Given the description of an element on the screen output the (x, y) to click on. 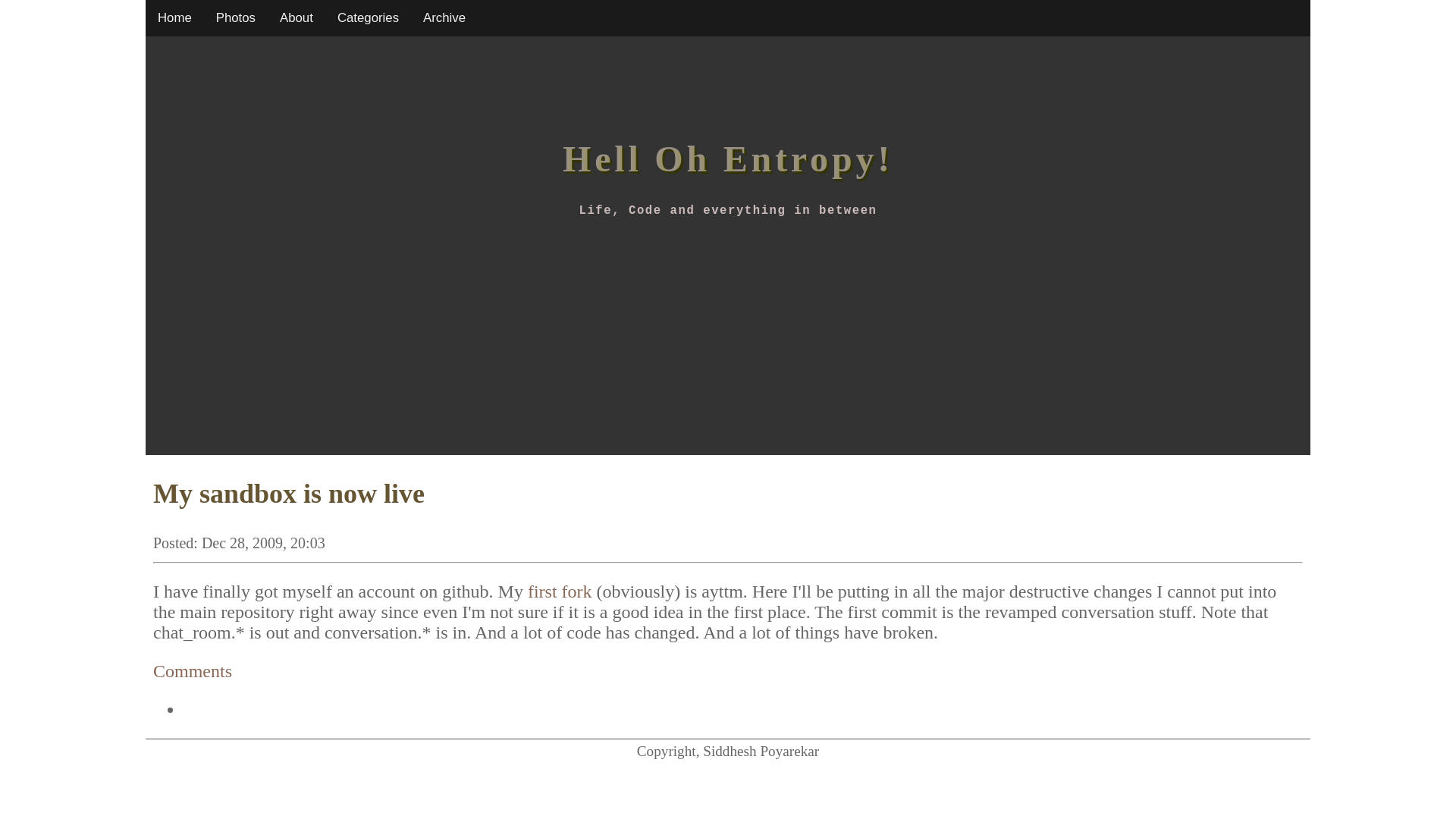
first fork (559, 591)
Home (174, 18)
My sandbox is now live (288, 493)
Archive (443, 18)
Comments (191, 670)
Photos (235, 18)
About (295, 18)
Categories (367, 18)
